Given the description of an element on the screen output the (x, y) to click on. 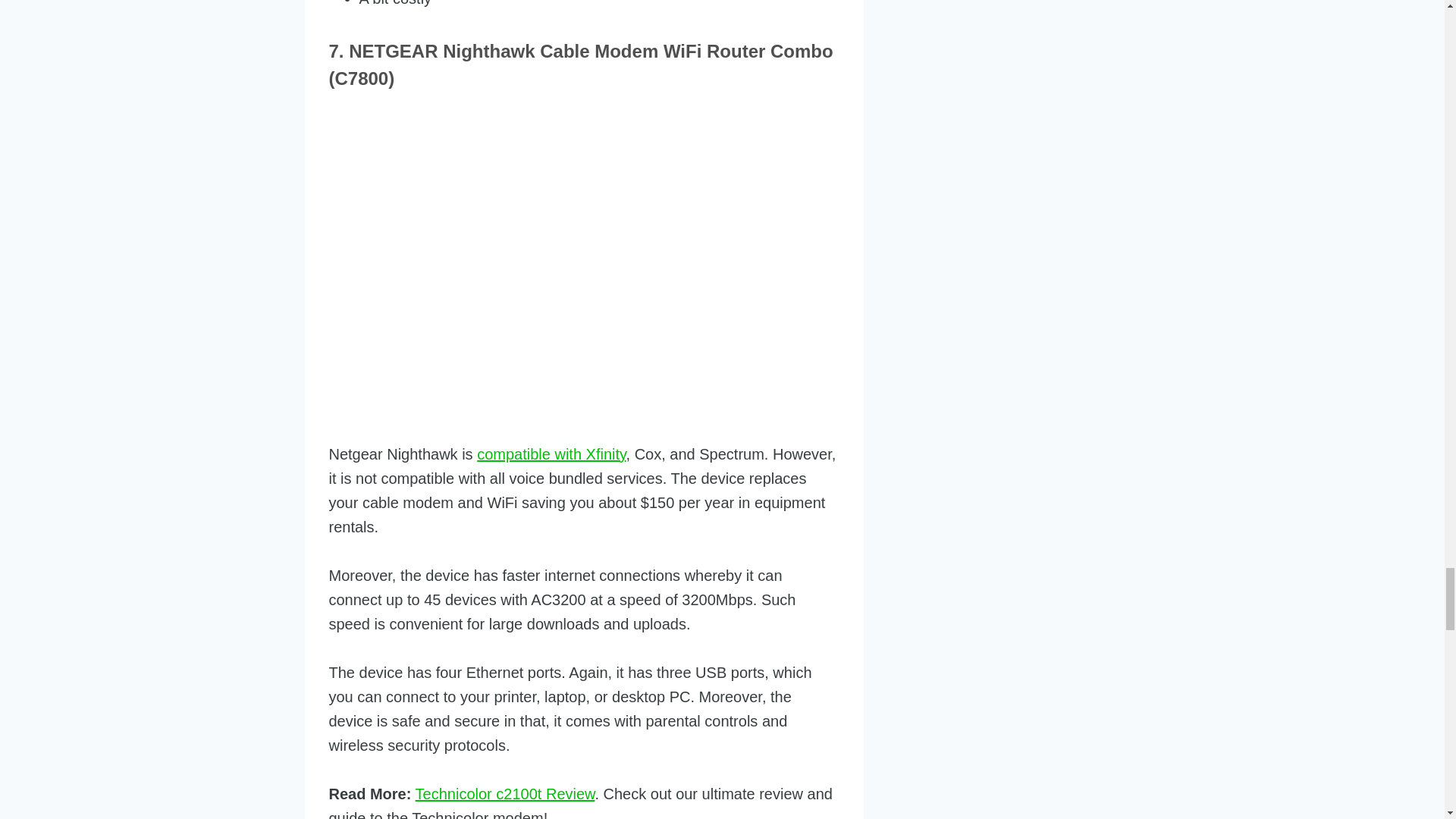
compatible with Xfinity (551, 453)
Technicolor c2100t Review (504, 793)
